Given the description of an element on the screen output the (x, y) to click on. 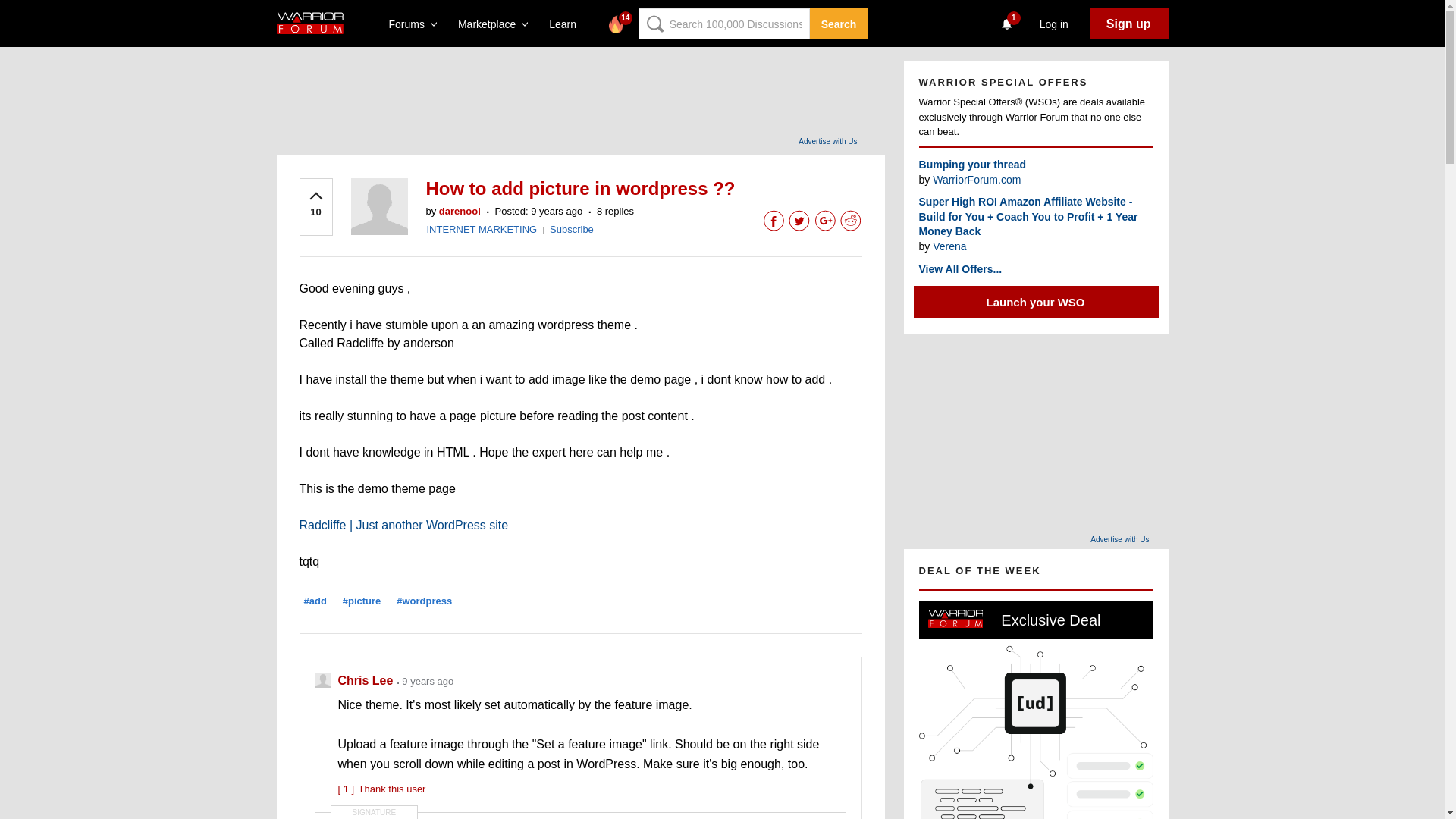
3rd party ad content (600, 94)
